Given the description of an element on the screen output the (x, y) to click on. 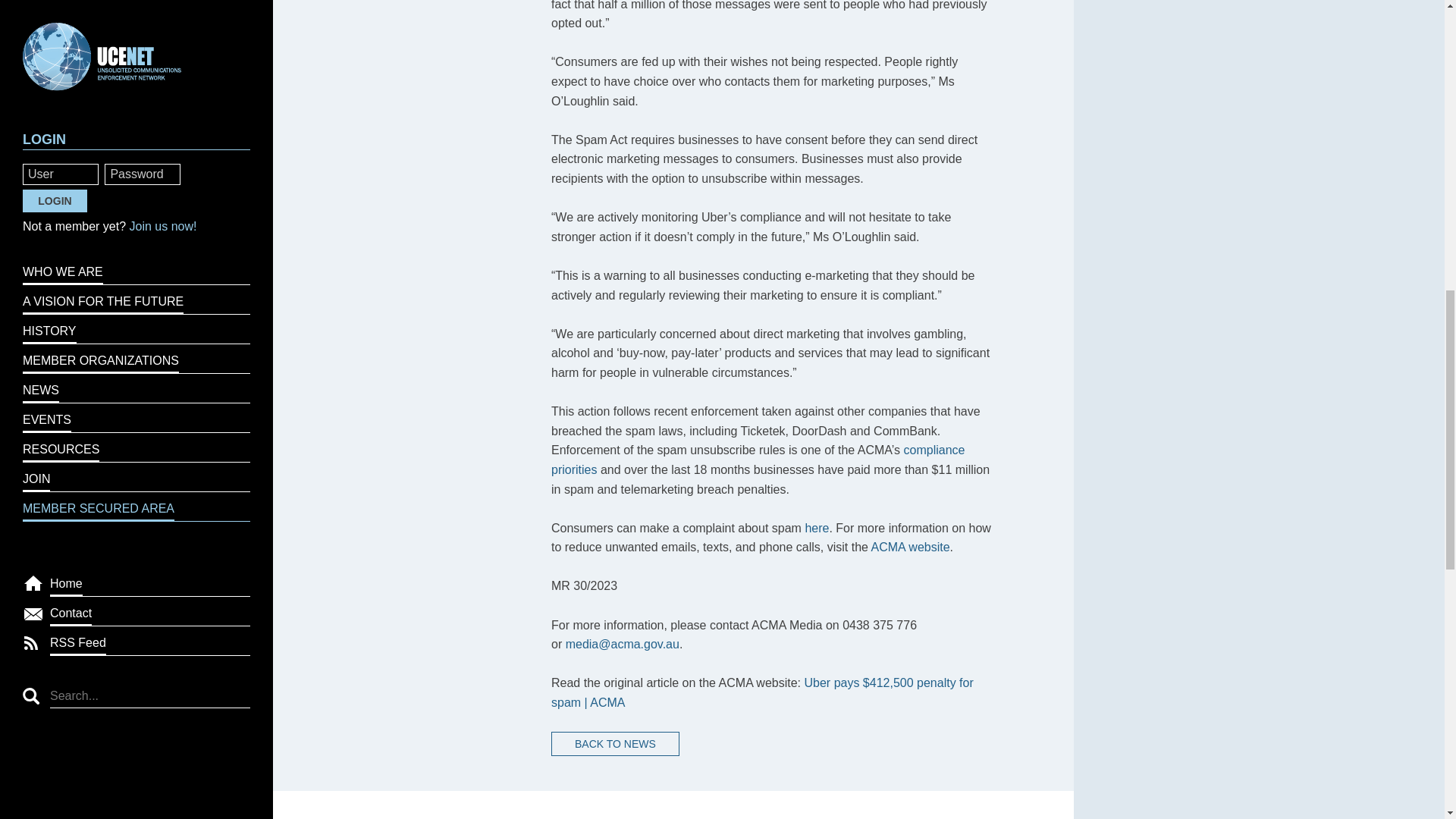
ACMA website (910, 546)
compliance priorities (757, 459)
BACK TO NEWS (615, 743)
here (816, 527)
